Given the description of an element on the screen output the (x, y) to click on. 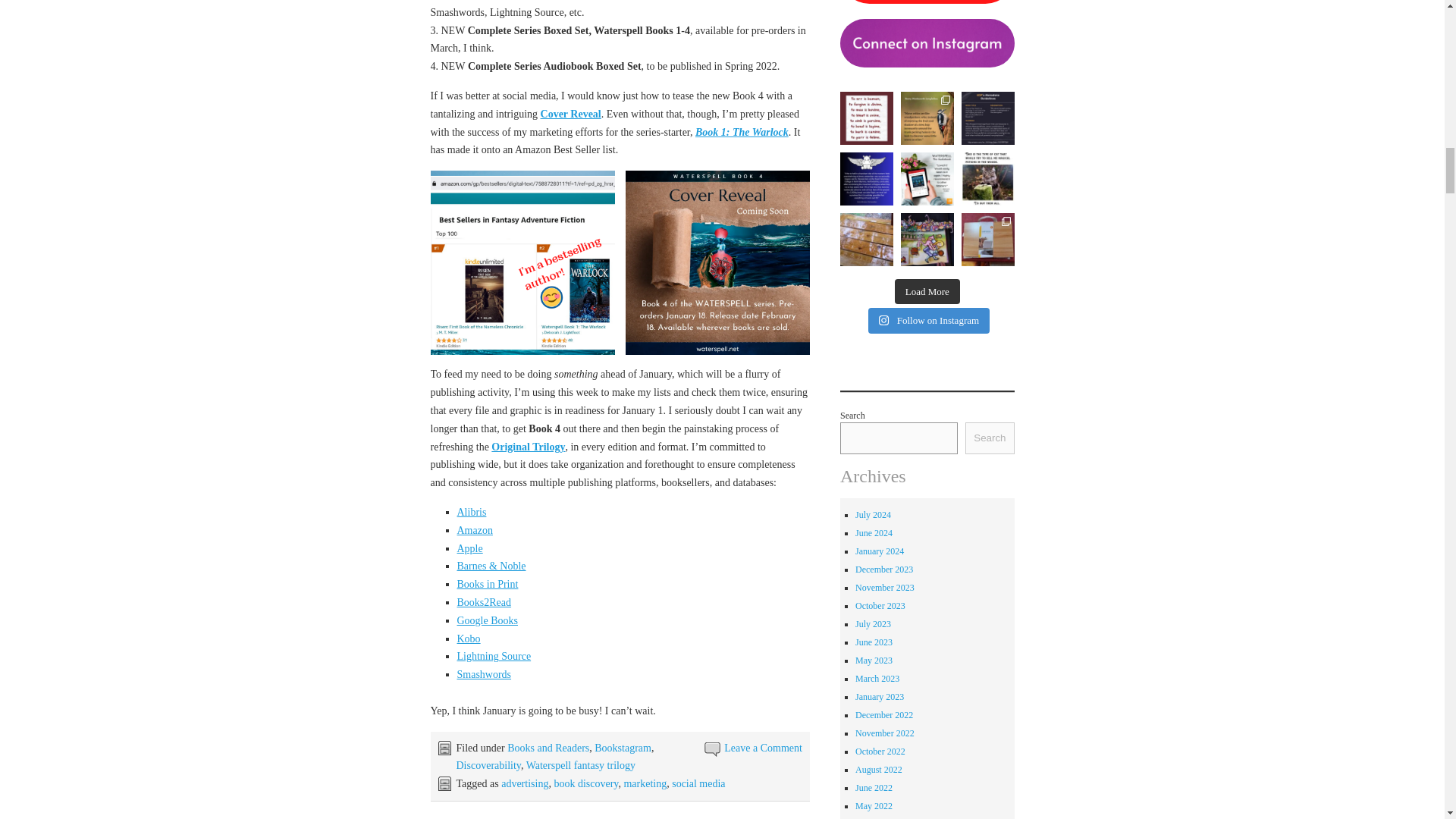
Cover Reveal (570, 113)
Follow Button (927, 363)
